Given the description of an element on the screen output the (x, y) to click on. 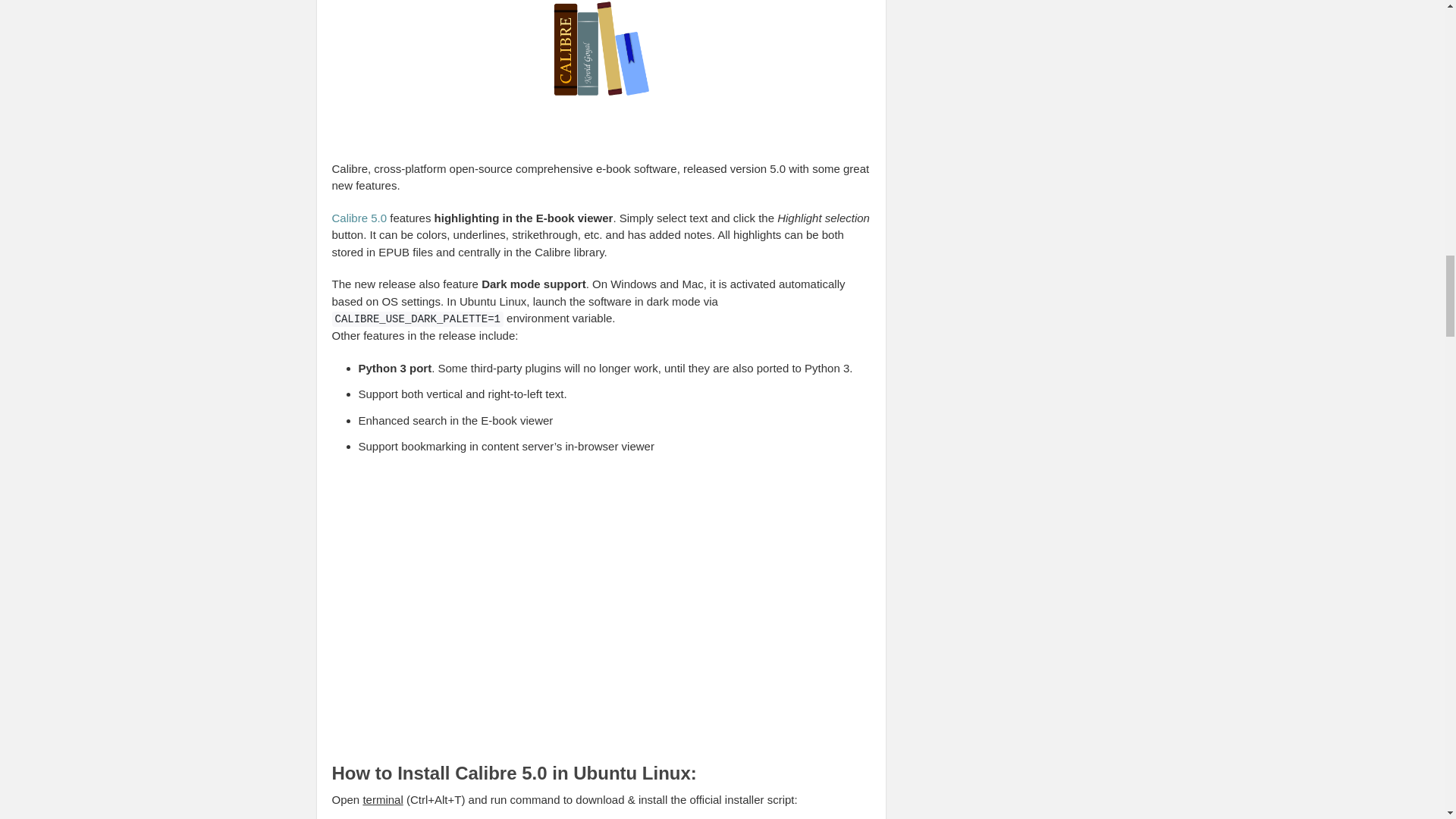
Calibre 5.0 (359, 217)
